Given the description of an element on the screen output the (x, y) to click on. 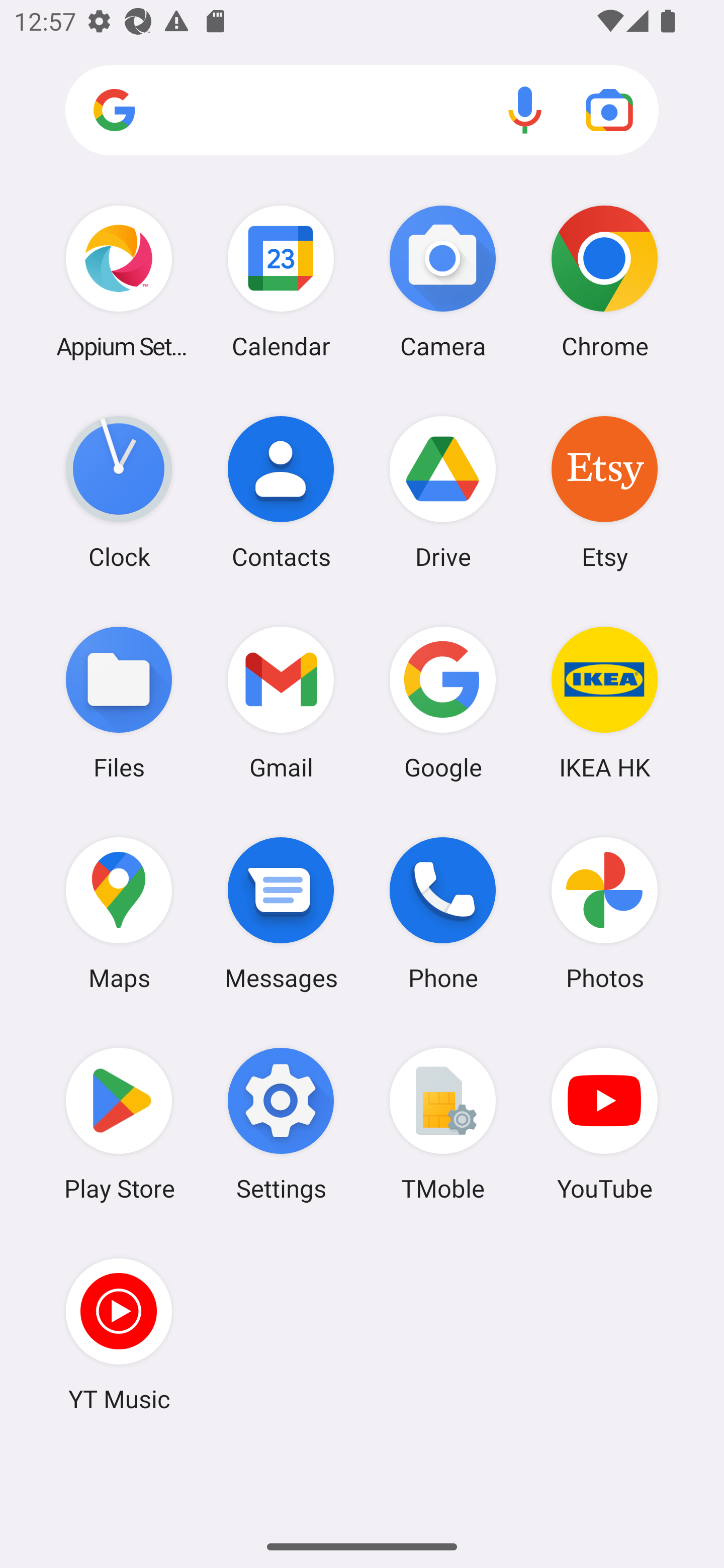
Search apps, web and more (361, 110)
Voice search (524, 109)
Google Lens (608, 109)
Appium Settings (118, 281)
Calendar (280, 281)
Camera (443, 281)
Chrome (604, 281)
Clock (118, 492)
Contacts (280, 492)
Drive (443, 492)
Etsy (604, 492)
Files (118, 702)
Gmail (280, 702)
Google (443, 702)
IKEA HK (604, 702)
Maps (118, 913)
Messages (280, 913)
Phone (443, 913)
Photos (604, 913)
Play Store (118, 1124)
Settings (280, 1124)
TMoble (443, 1124)
YouTube (604, 1124)
YT Music (118, 1334)
